Given the description of an element on the screen output the (x, y) to click on. 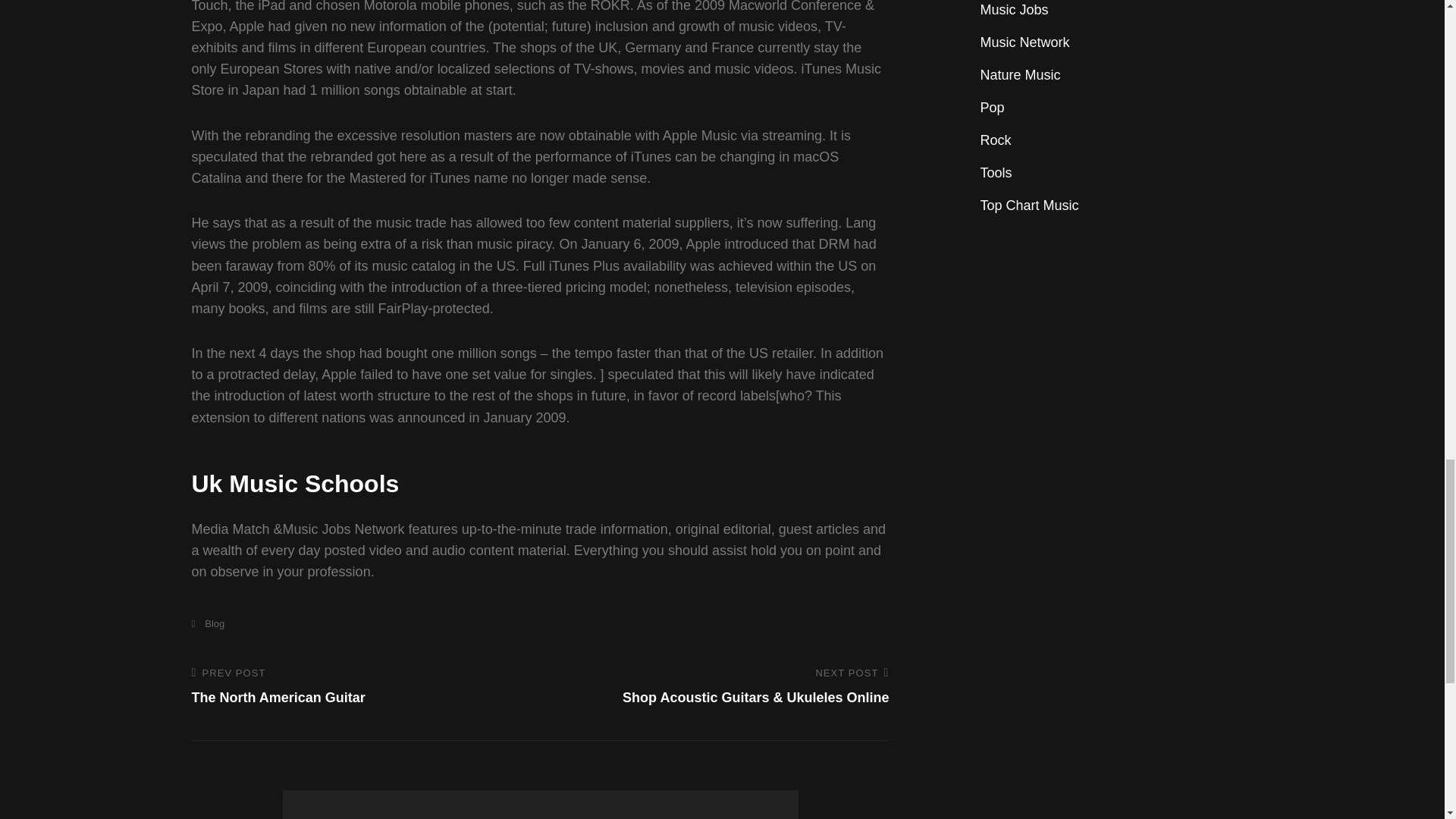
Blog (207, 623)
